Given the description of an element on the screen output the (x, y) to click on. 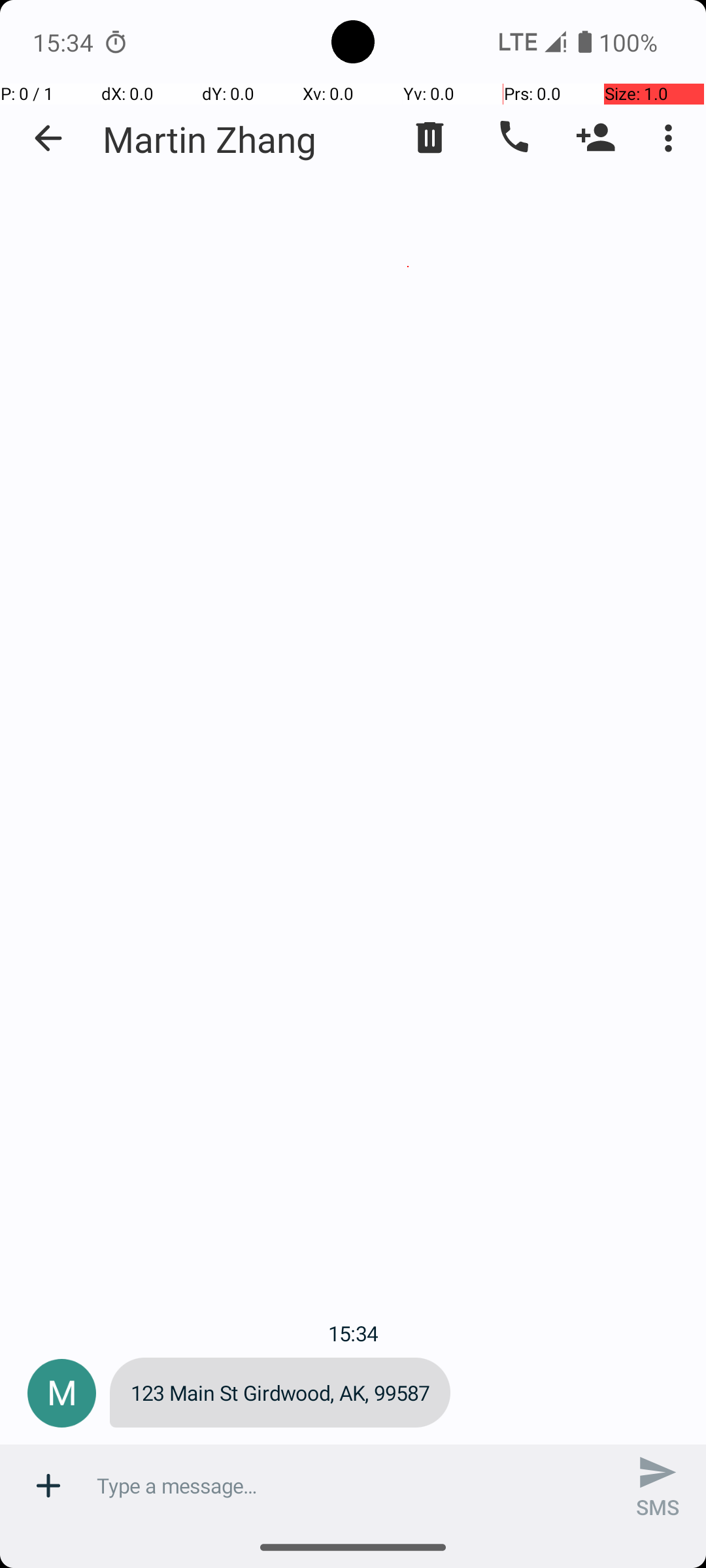
Martin Zhang Element type: android.widget.TextView (209, 138)
123 Main St Girdwood, AK, 99587 Element type: android.widget.TextView (279, 1392)
